Given the description of an element on the screen output the (x, y) to click on. 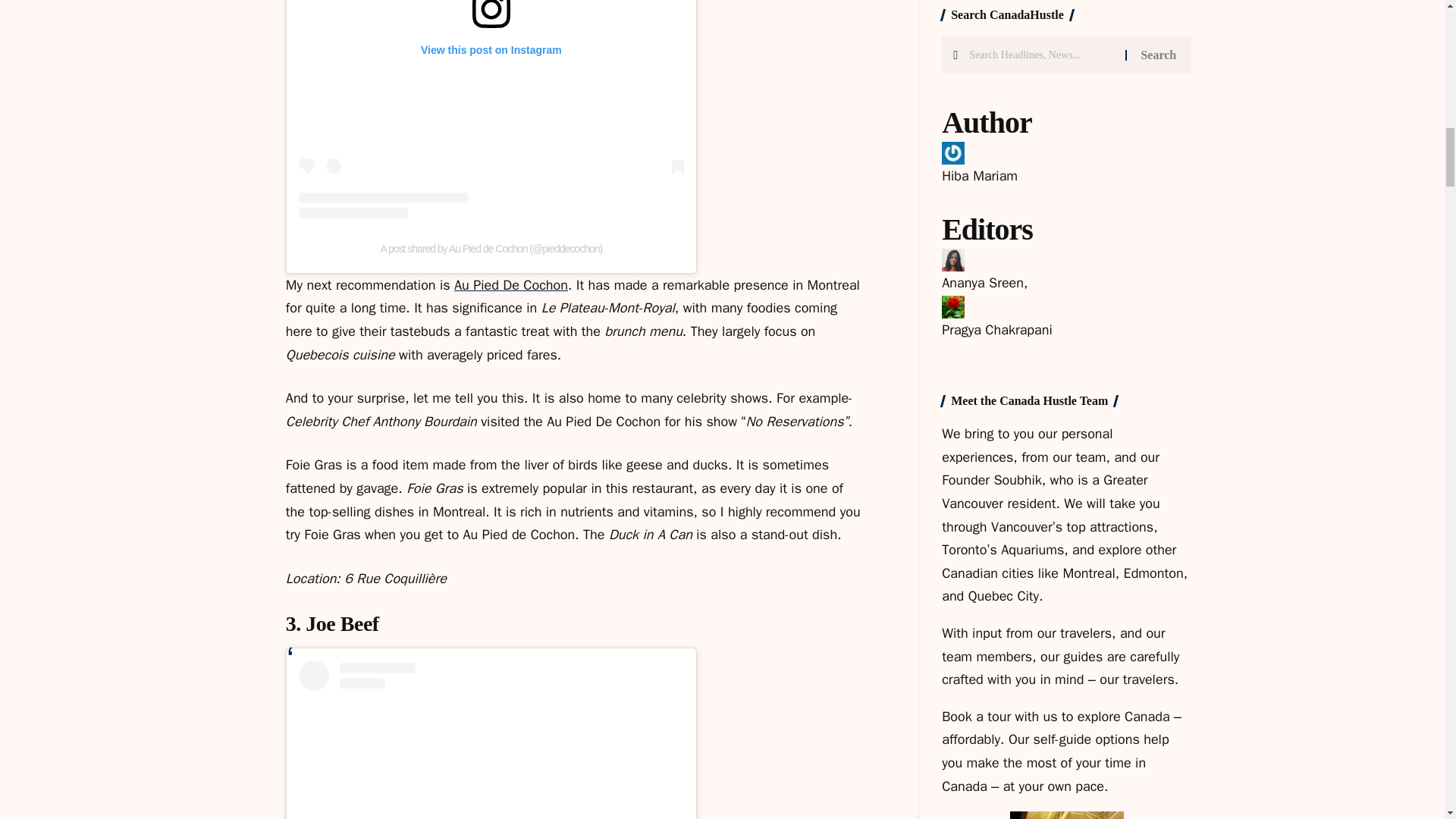
Things to Explore During Your Robson Street Tour (979, 92)
